Given the description of an element on the screen output the (x, y) to click on. 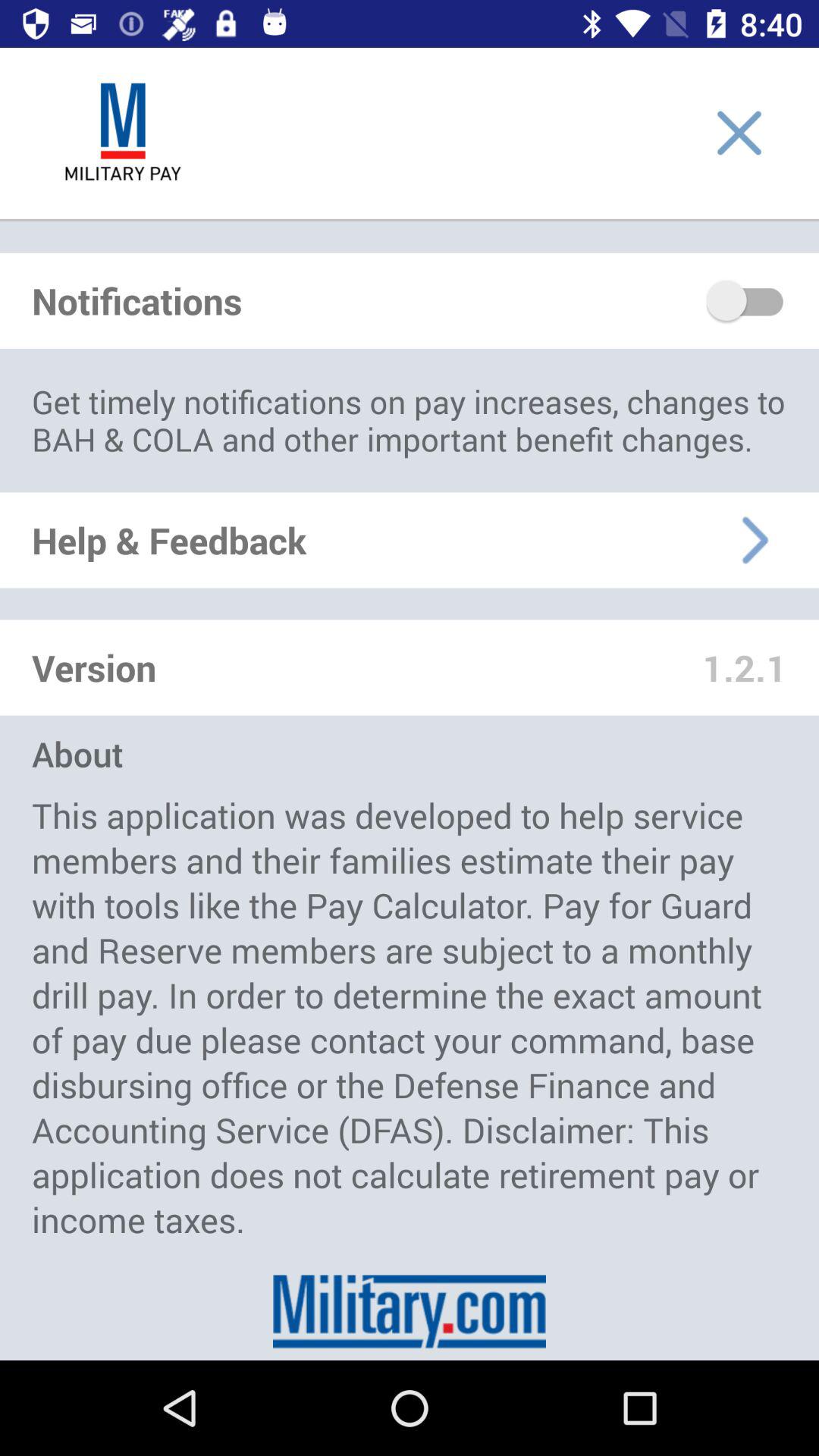
close (739, 132)
